Given the description of an element on the screen output the (x, y) to click on. 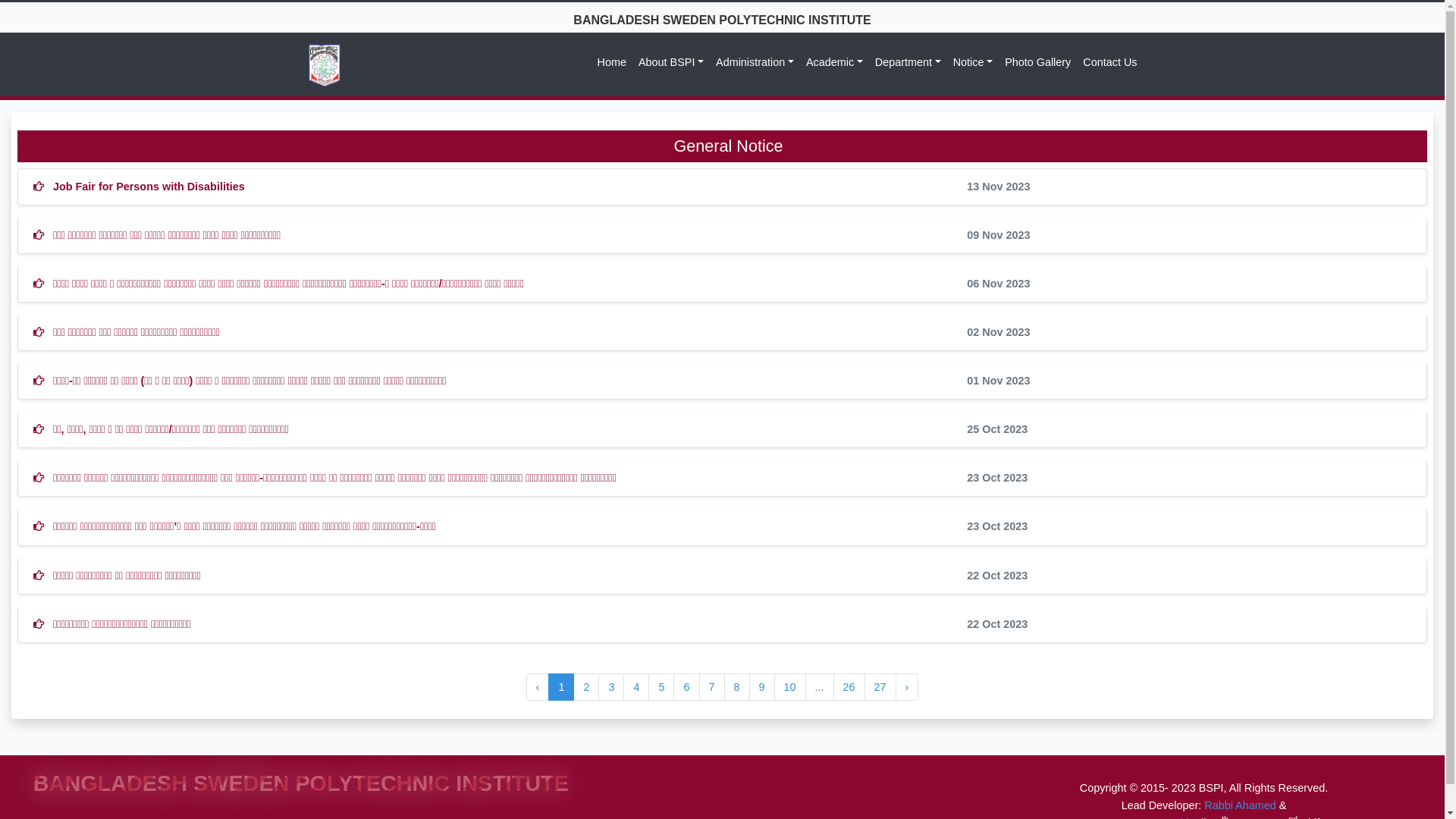
Rabbi Ahamed Element type: text (1239, 805)
7 Element type: text (711, 686)
Academic Element type: text (834, 62)
4 Element type: text (636, 686)
Photo Gallery Element type: text (1037, 62)
2 Element type: text (586, 686)
Department Element type: text (908, 62)
Home Element type: text (611, 62)
Contact Us Element type: text (1109, 62)
27 Element type: text (880, 686)
26 Element type: text (849, 686)
3 Element type: text (611, 686)
8 Element type: text (736, 686)
9 Element type: text (762, 686)
6 Element type: text (686, 686)
  Job Fair for Persons with Disabilities
13 Nov 2023 Element type: text (722, 186)
5 Element type: text (661, 686)
Notice Element type: text (972, 62)
Administration Element type: text (754, 62)
10 Element type: text (790, 686)
About BSPI Element type: text (670, 62)
